Given the description of an element on the screen output the (x, y) to click on. 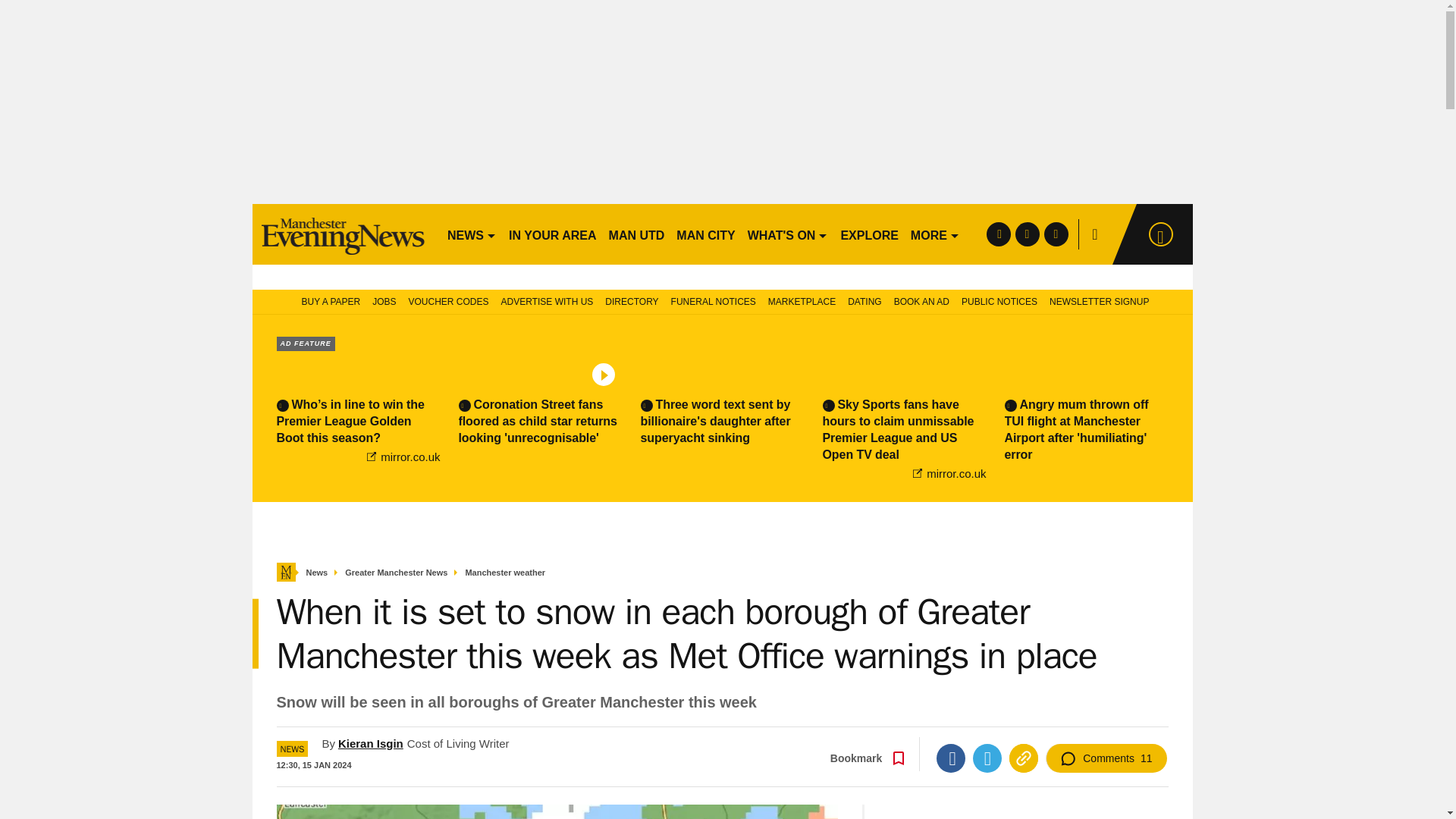
men (342, 233)
facebook (997, 233)
twitter (1026, 233)
Twitter (986, 758)
Facebook (950, 758)
MAN CITY (705, 233)
instagram (1055, 233)
WHAT'S ON (787, 233)
Comments (1105, 758)
MAN UTD (636, 233)
